Given the description of an element on the screen output the (x, y) to click on. 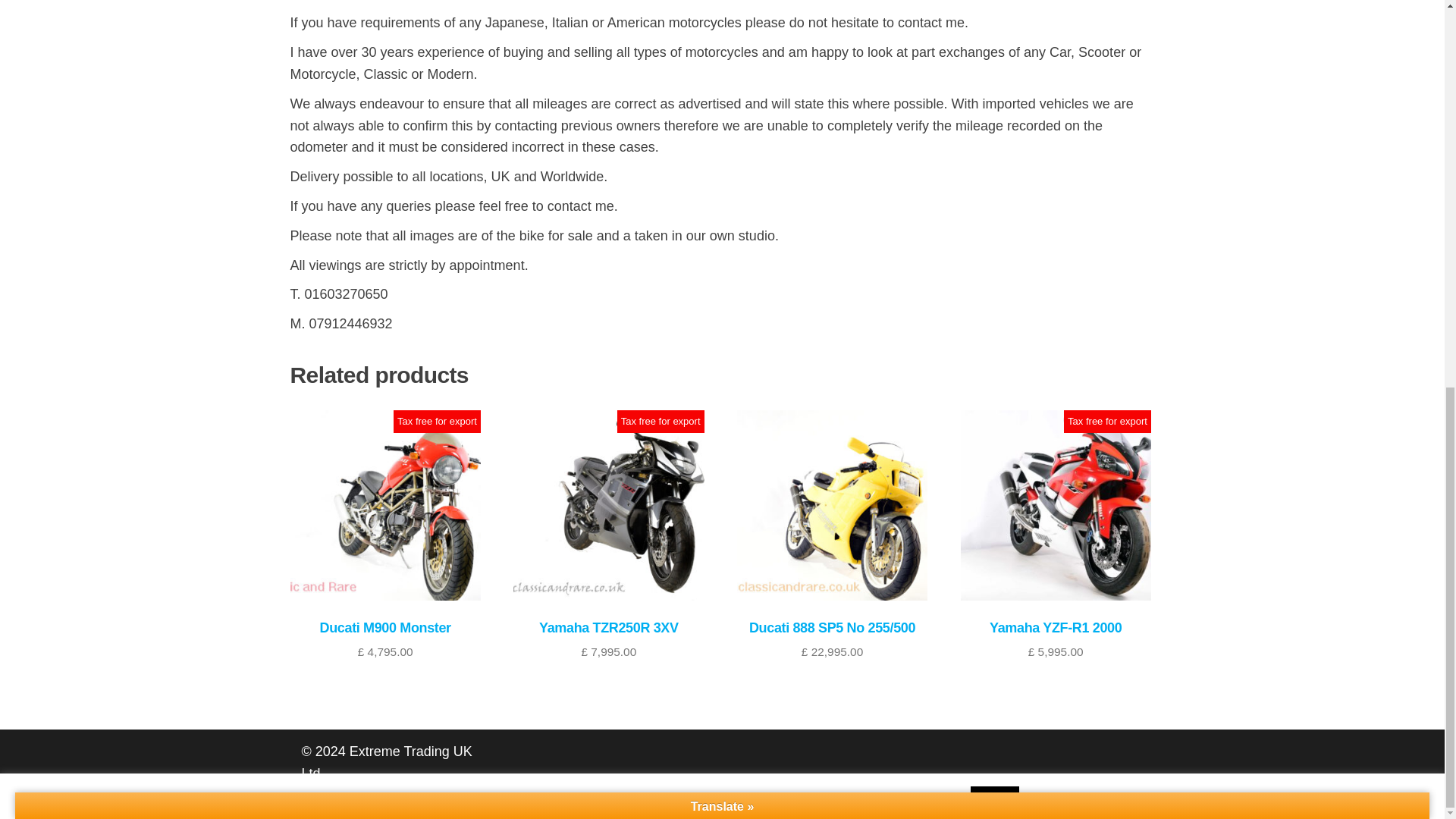
Tax free for export (437, 420)
